Given the description of an element on the screen output the (x, y) to click on. 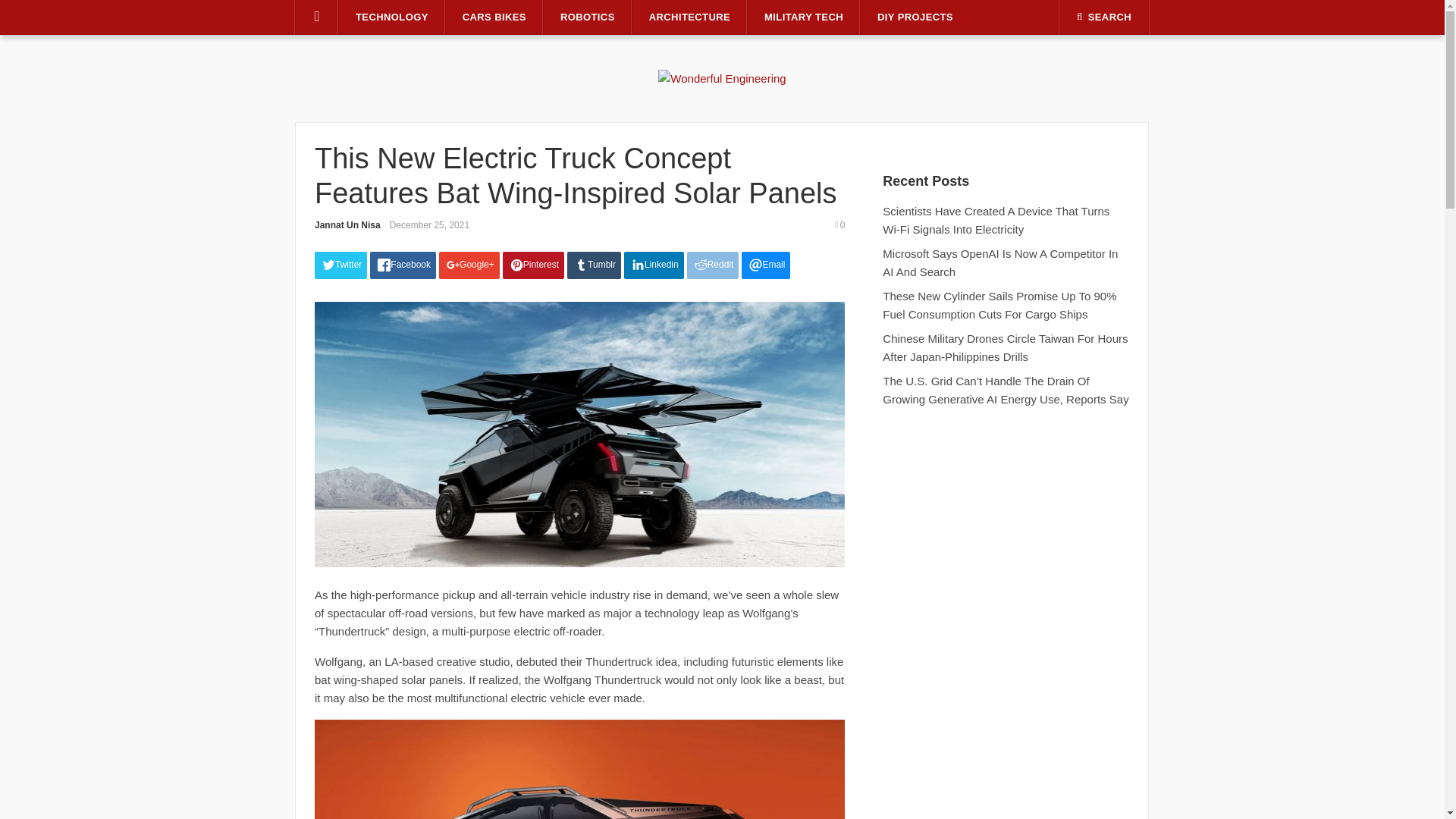
ROBOTICS (587, 17)
TECHNOLOGY (392, 17)
Reddit (713, 265)
Tumblr (594, 265)
Linkedin (654, 265)
SEARCH (1104, 16)
Facebook (402, 265)
ARCHITECTURE (688, 17)
Pinterest (533, 265)
